Given the description of an element on the screen output the (x, y) to click on. 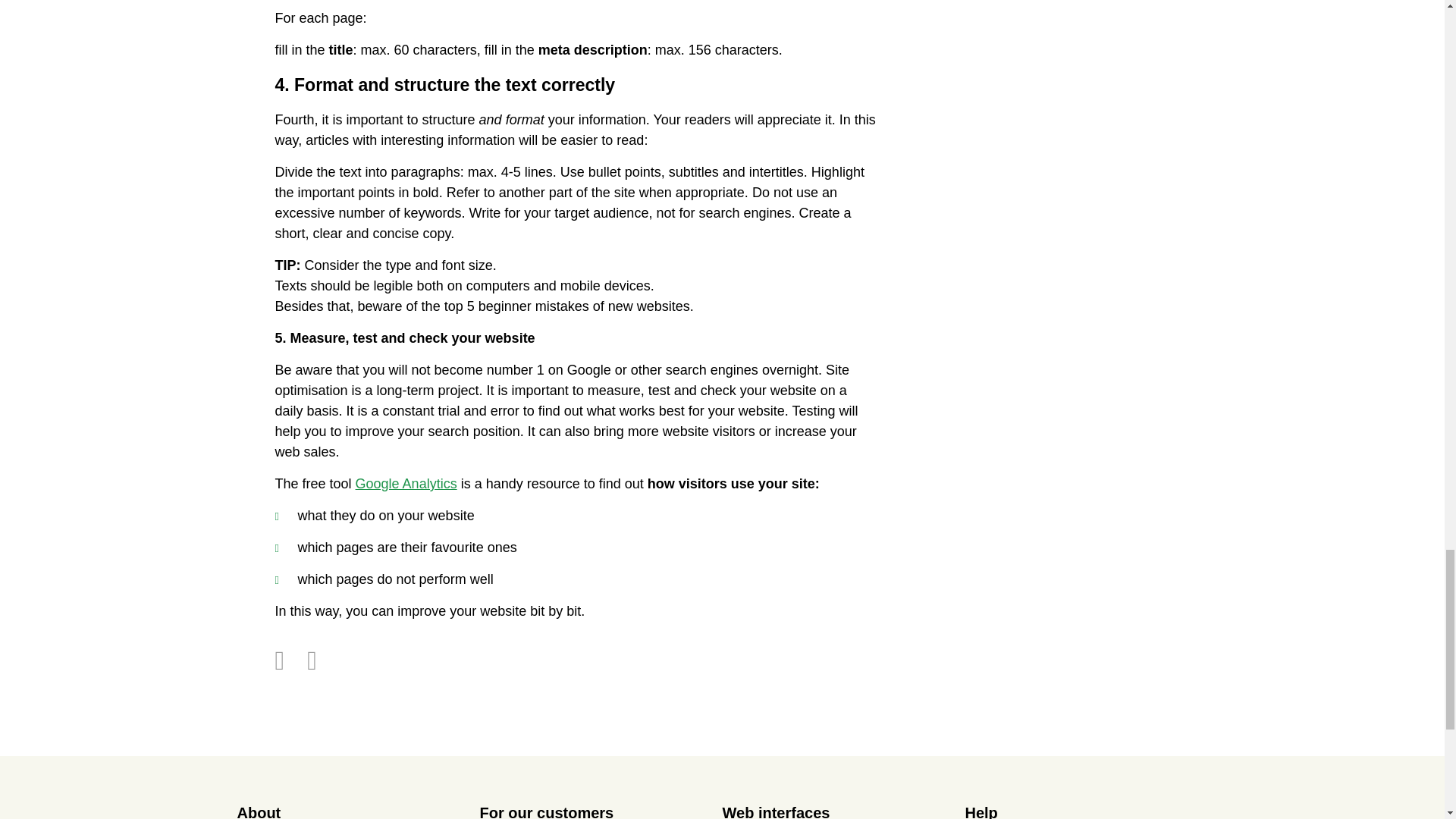
Google Analytics (406, 483)
